Given the description of an element on the screen output the (x, y) to click on. 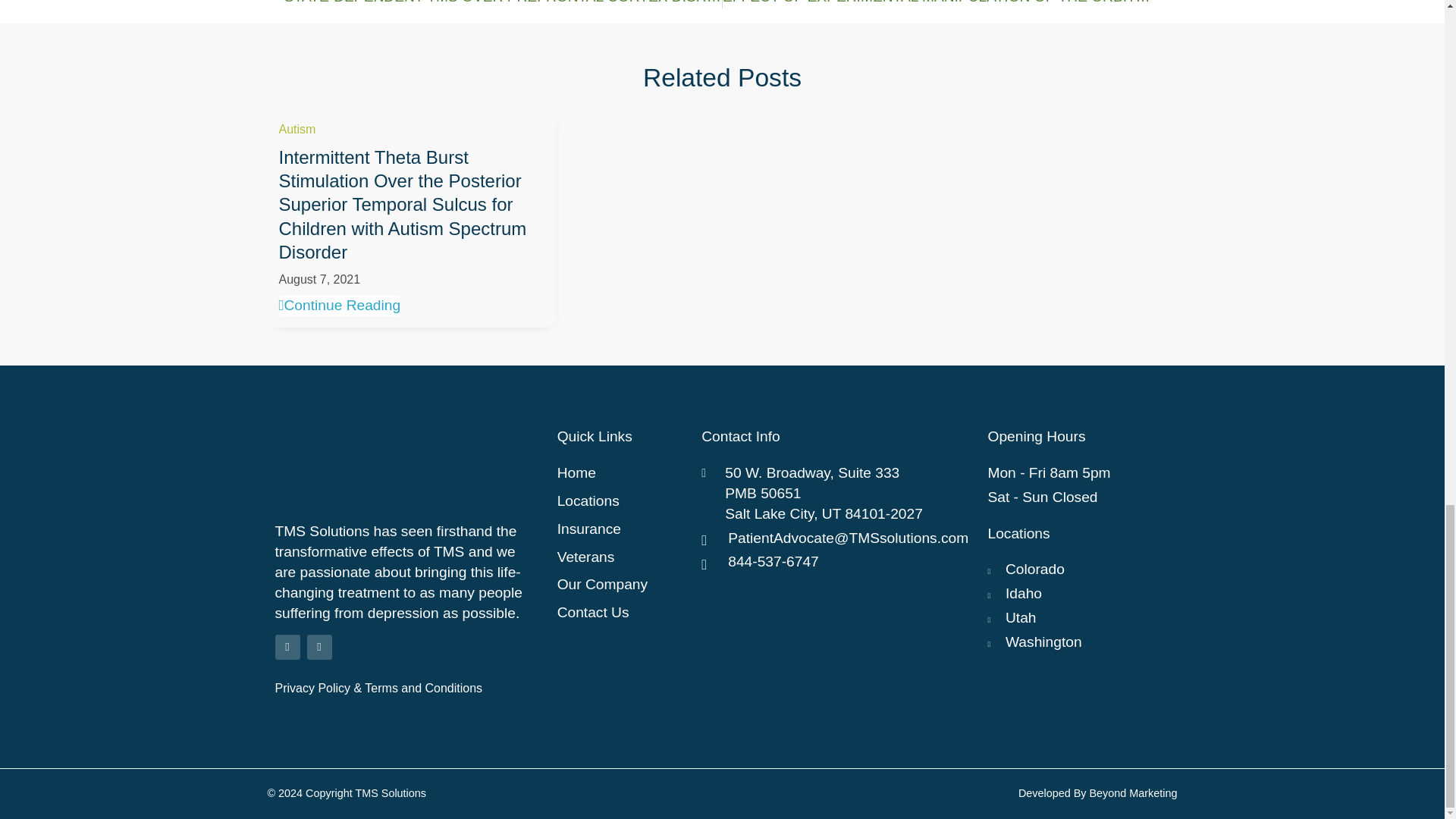
Home (622, 473)
Continue Reading (340, 305)
Autism (297, 128)
